Given the description of an element on the screen output the (x, y) to click on. 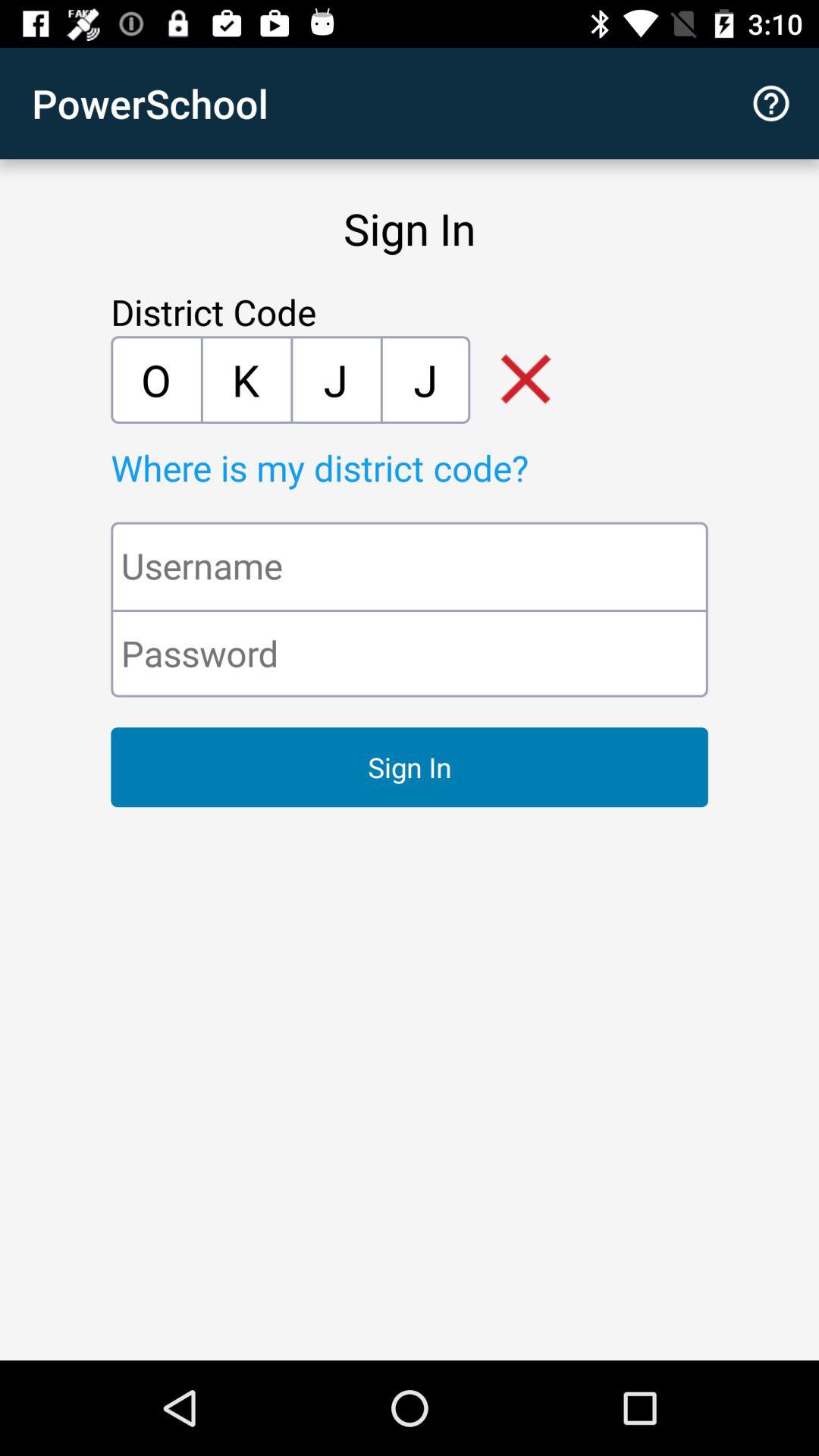
tap the icon next to the j (245, 379)
